Given the description of an element on the screen output the (x, y) to click on. 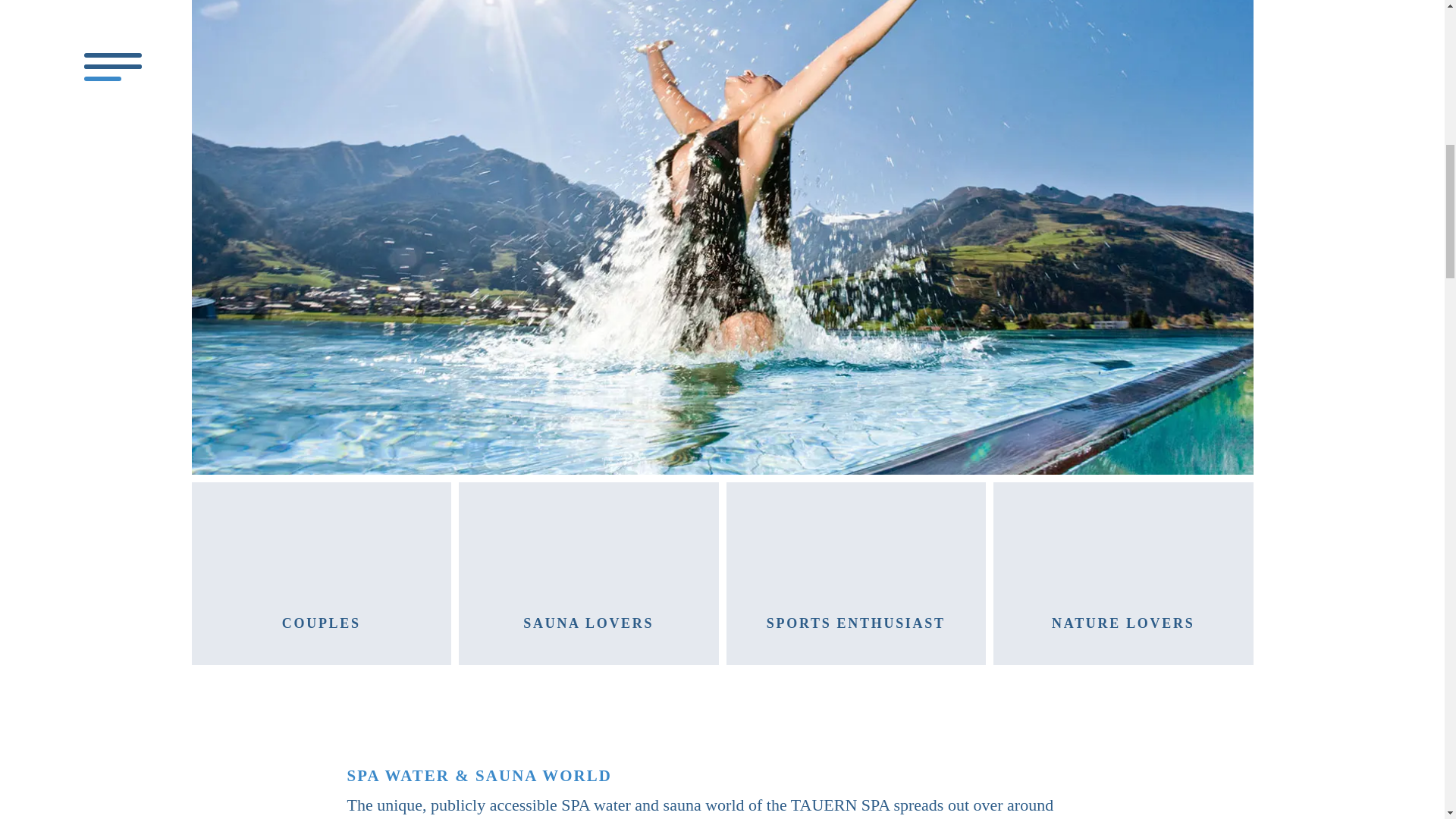
Icon Natur (1123, 556)
Icon Sport (855, 556)
